Given the description of an element on the screen output the (x, y) to click on. 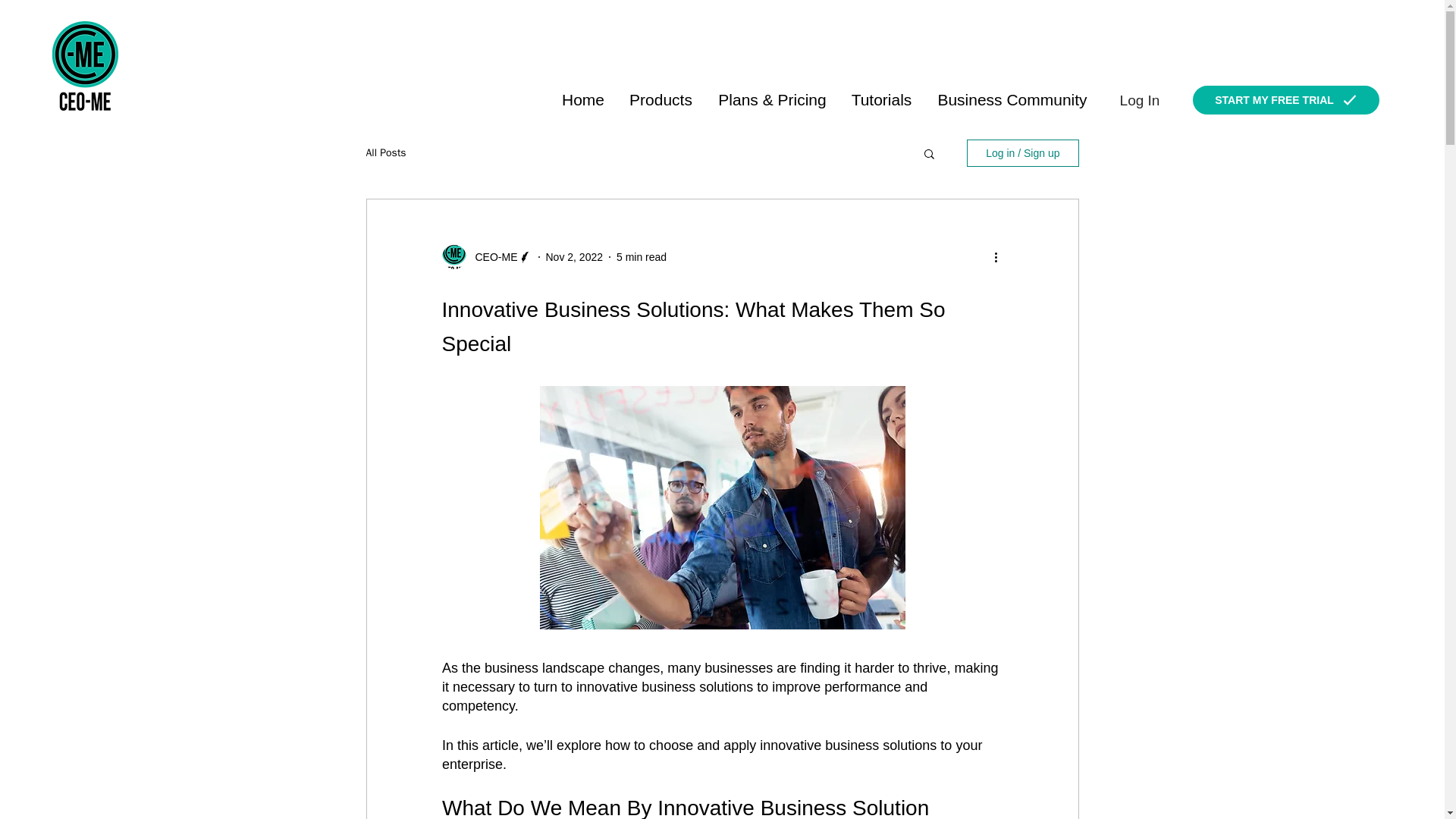
CEO-ME (490, 256)
Tutorials (880, 99)
5 min read (640, 256)
START MY FREE TRIAL (1285, 100)
Home (581, 99)
Products (659, 99)
Business Community (1011, 99)
All Posts (385, 152)
Nov 2, 2022 (575, 256)
Log In (1139, 100)
